Given the description of an element on the screen output the (x, y) to click on. 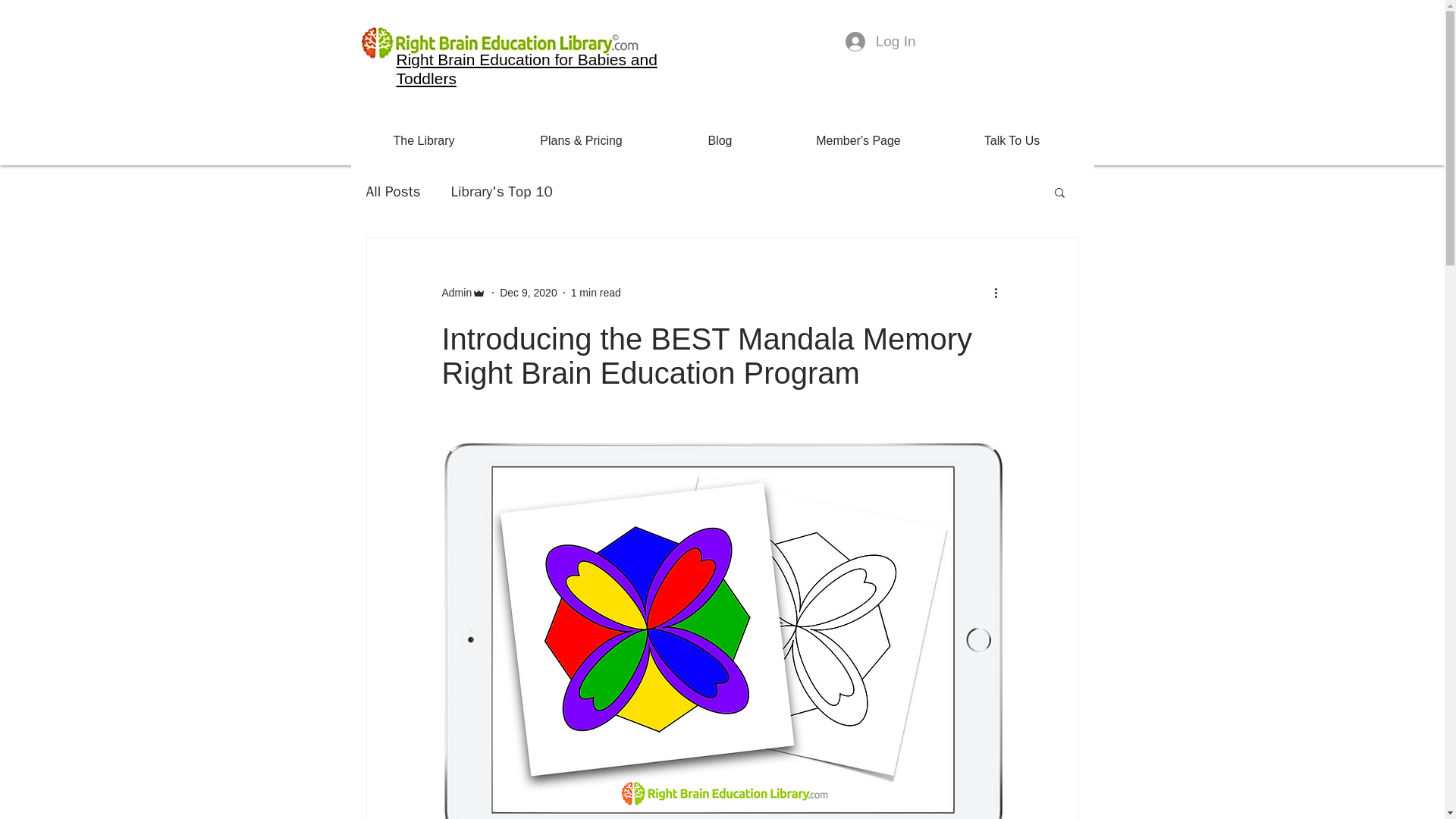
Log In (880, 41)
Talk To Us (1011, 140)
Admin (463, 293)
The Library (423, 140)
Library's Top 10 (502, 191)
Right Brain Education for Babies and Toddlers (526, 68)
Admin (456, 293)
1 min read (595, 292)
All Posts (392, 191)
Dec 9, 2020 (528, 292)
Blog (719, 140)
Member's Page (858, 140)
